Given the description of an element on the screen output the (x, y) to click on. 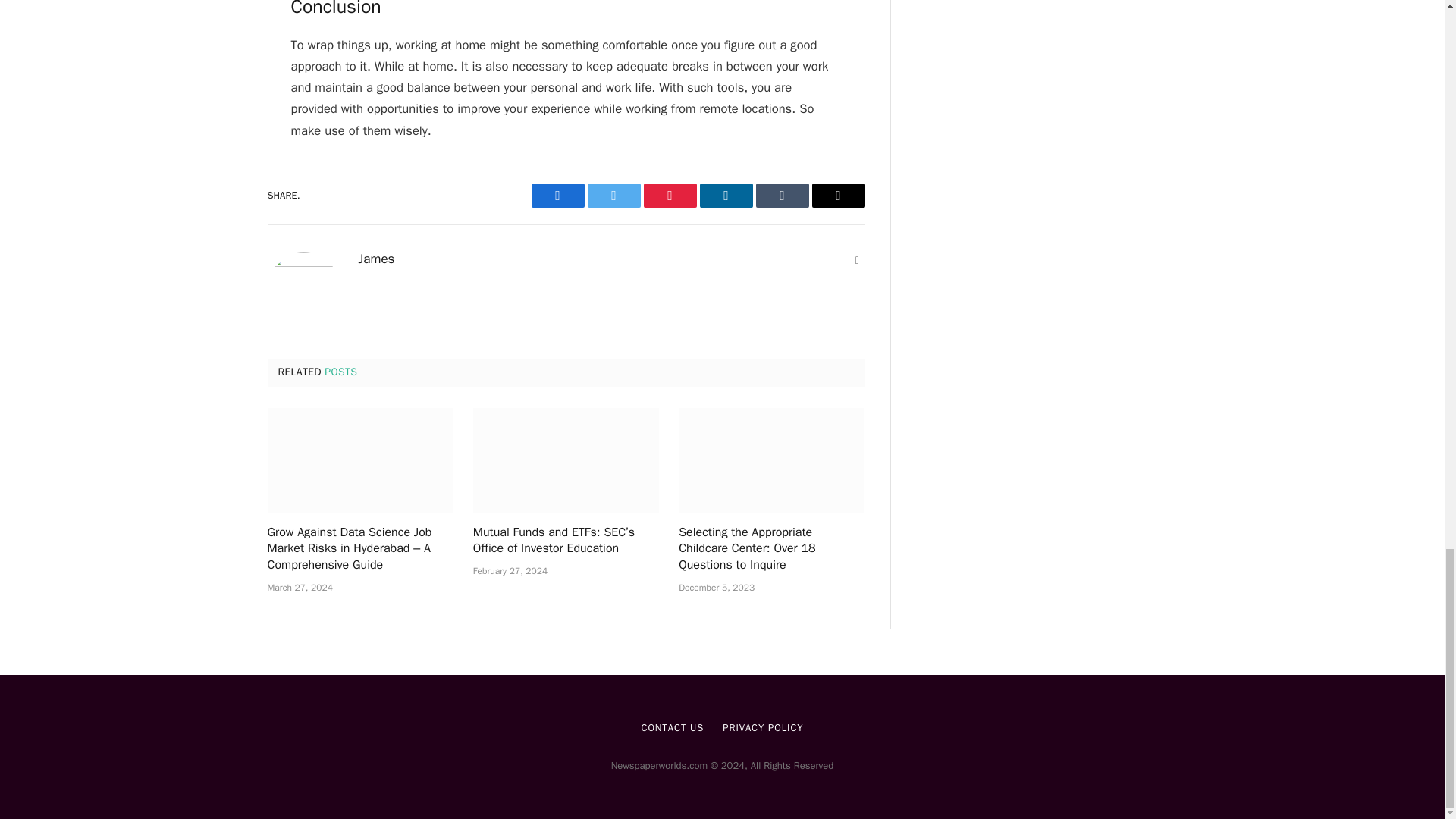
Twitter (613, 195)
Facebook (557, 195)
